Given the description of an element on the screen output the (x, y) to click on. 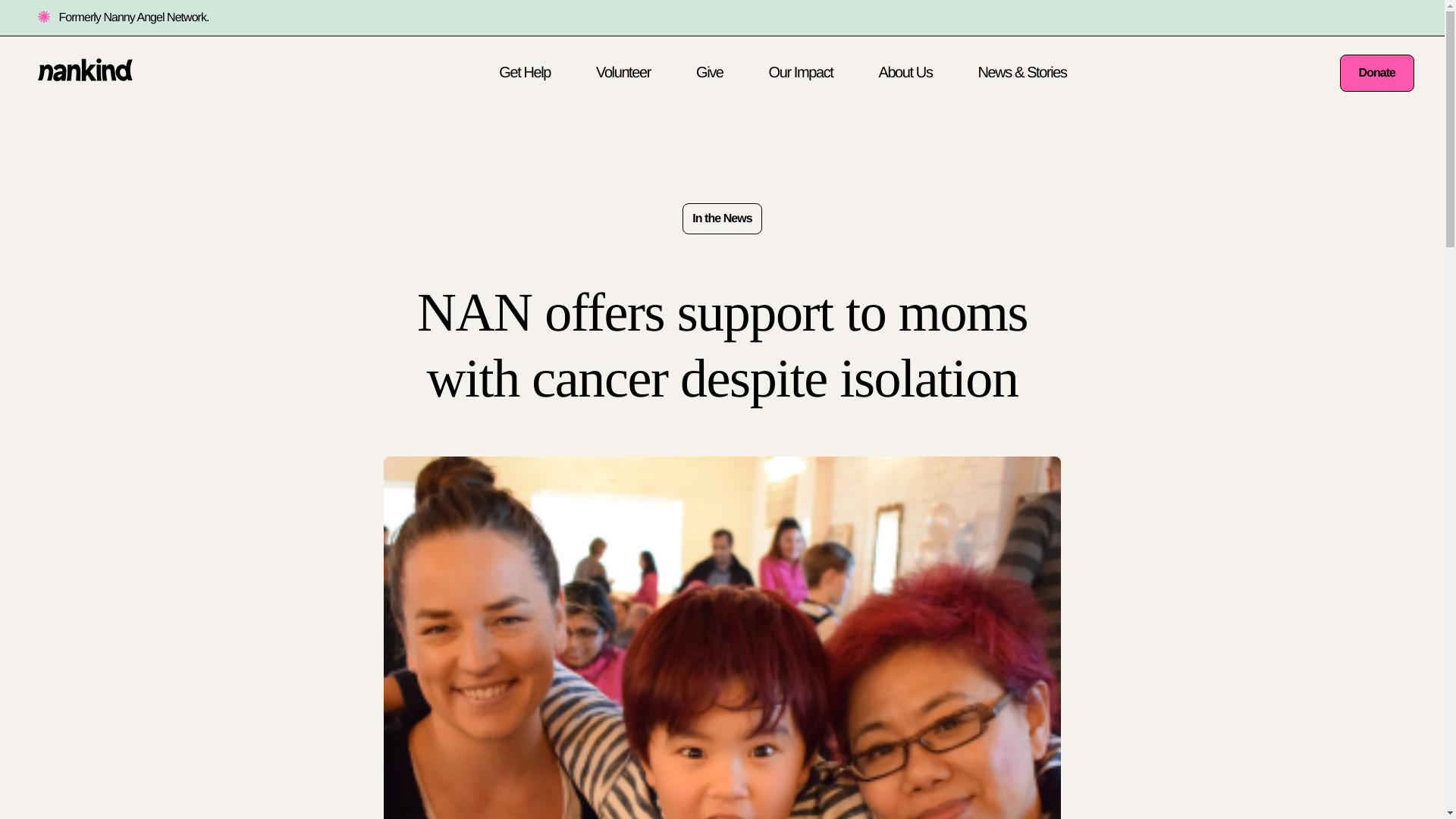
Volunteer (622, 72)
Donate (1376, 72)
Get Help (524, 72)
Give (709, 72)
Our Impact (800, 72)
In the News (721, 218)
Go to homepage (84, 76)
About Us (904, 72)
